Given the description of an element on the screen output the (x, y) to click on. 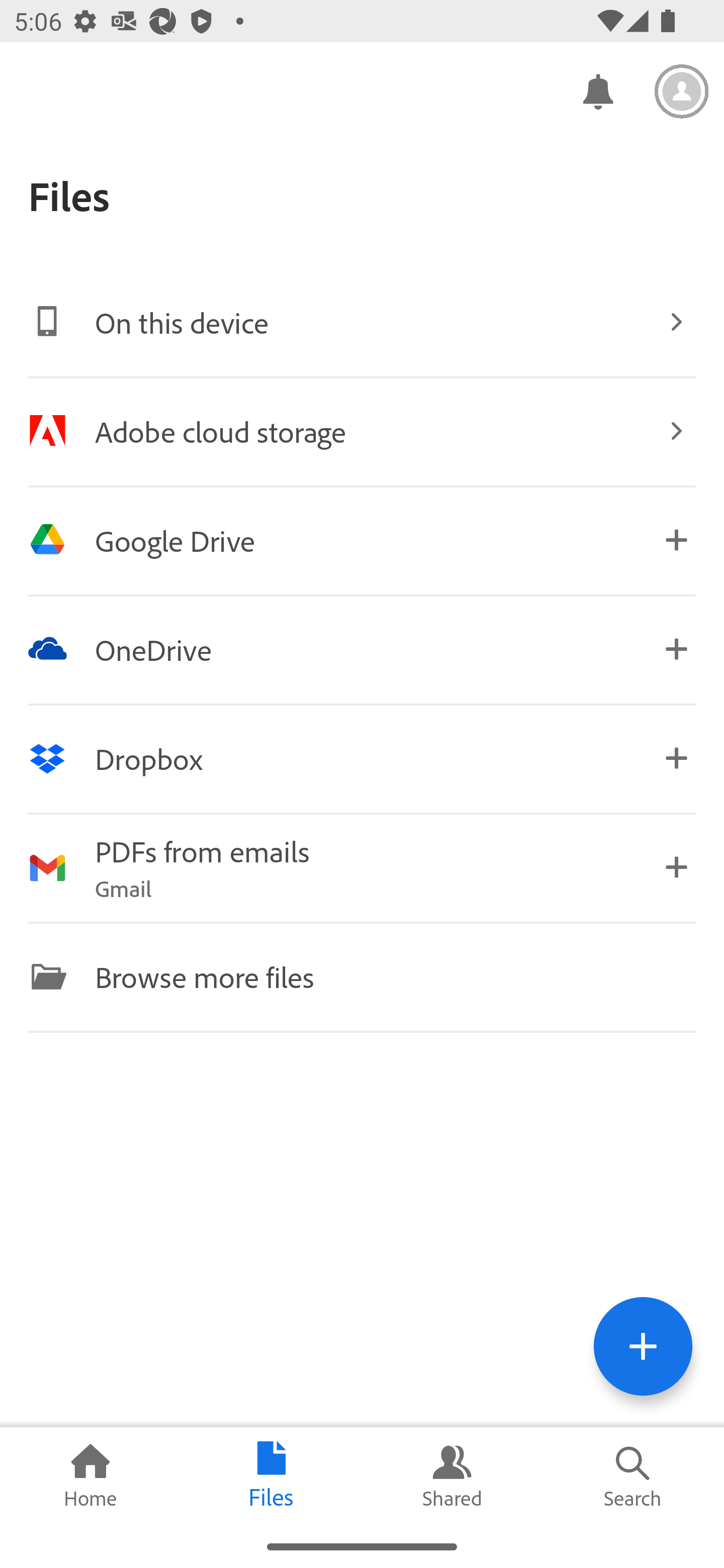
Notifications (597, 90)
Settings (681, 91)
Image On this device (362, 322)
Image Adobe cloud storage (362, 431)
Image Google Drive (362, 540)
Image OneDrive (362, 649)
Image Dropbox (362, 758)
Image PDFs from emails Gmail (362, 866)
Image Browse more files (362, 975)
Tools (642, 1345)
Home (90, 1475)
Files (271, 1475)
Shared (452, 1475)
Search (633, 1475)
